Given the description of an element on the screen output the (x, y) to click on. 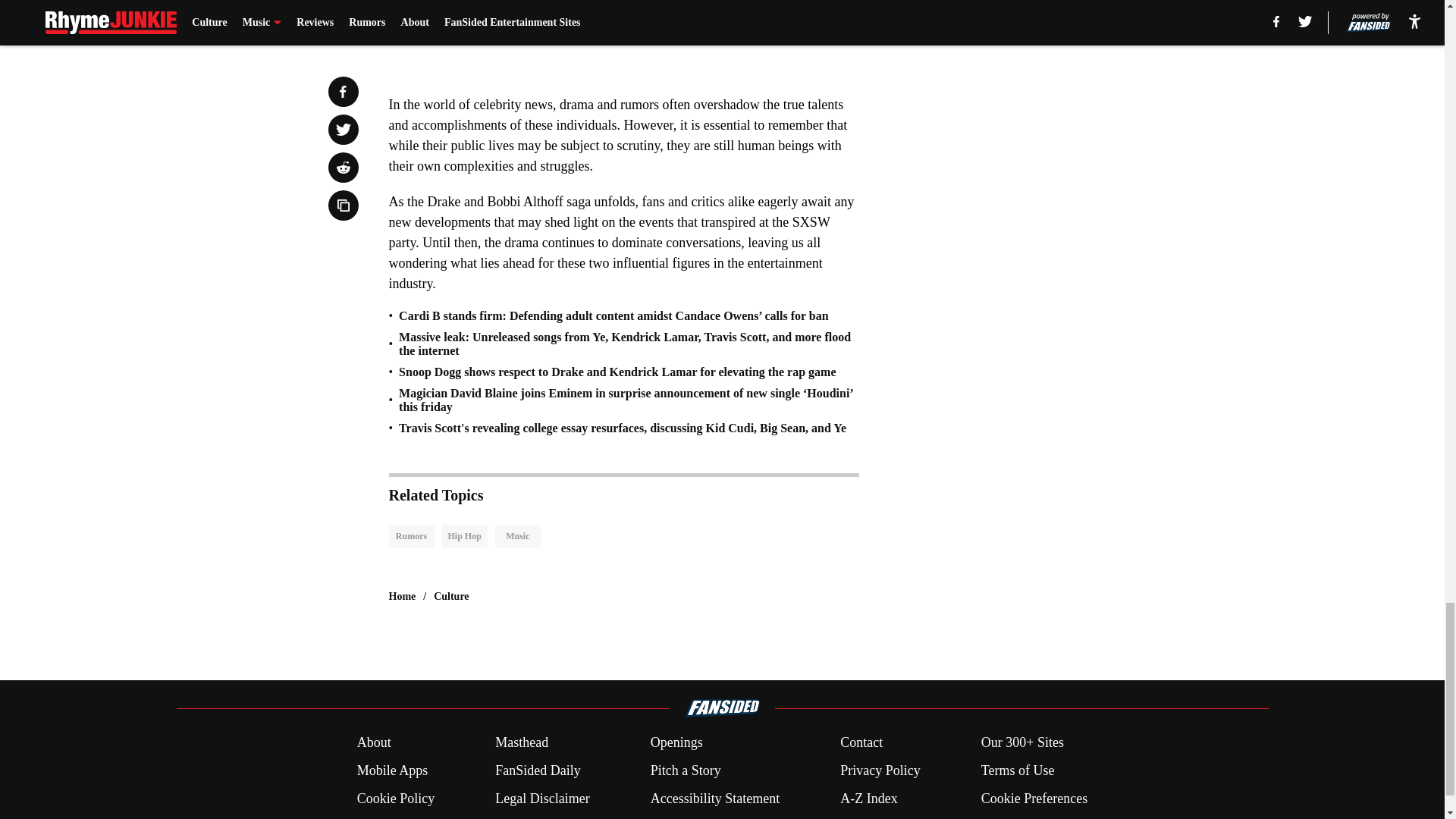
Pitch a Story (685, 770)
Openings (676, 742)
About (373, 742)
Masthead (521, 742)
Mobile Apps (392, 770)
Hip Hop (463, 535)
Rumors (410, 535)
Culture (450, 596)
Home (401, 596)
Privacy Policy (880, 770)
Contact (861, 742)
Music (517, 535)
